Given the description of an element on the screen output the (x, y) to click on. 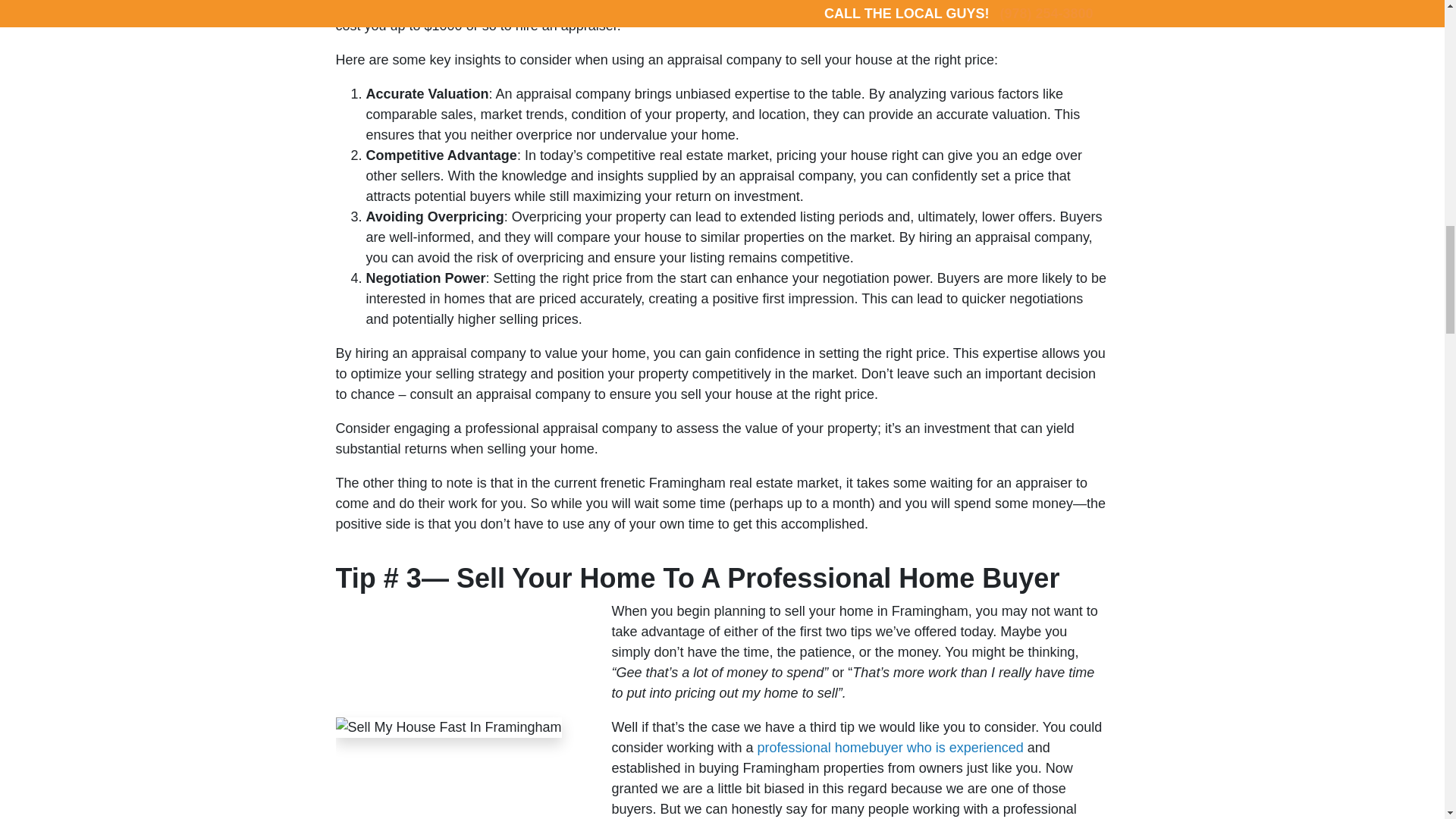
professional homebuyer who is experienced (890, 747)
